Given the description of an element on the screen output the (x, y) to click on. 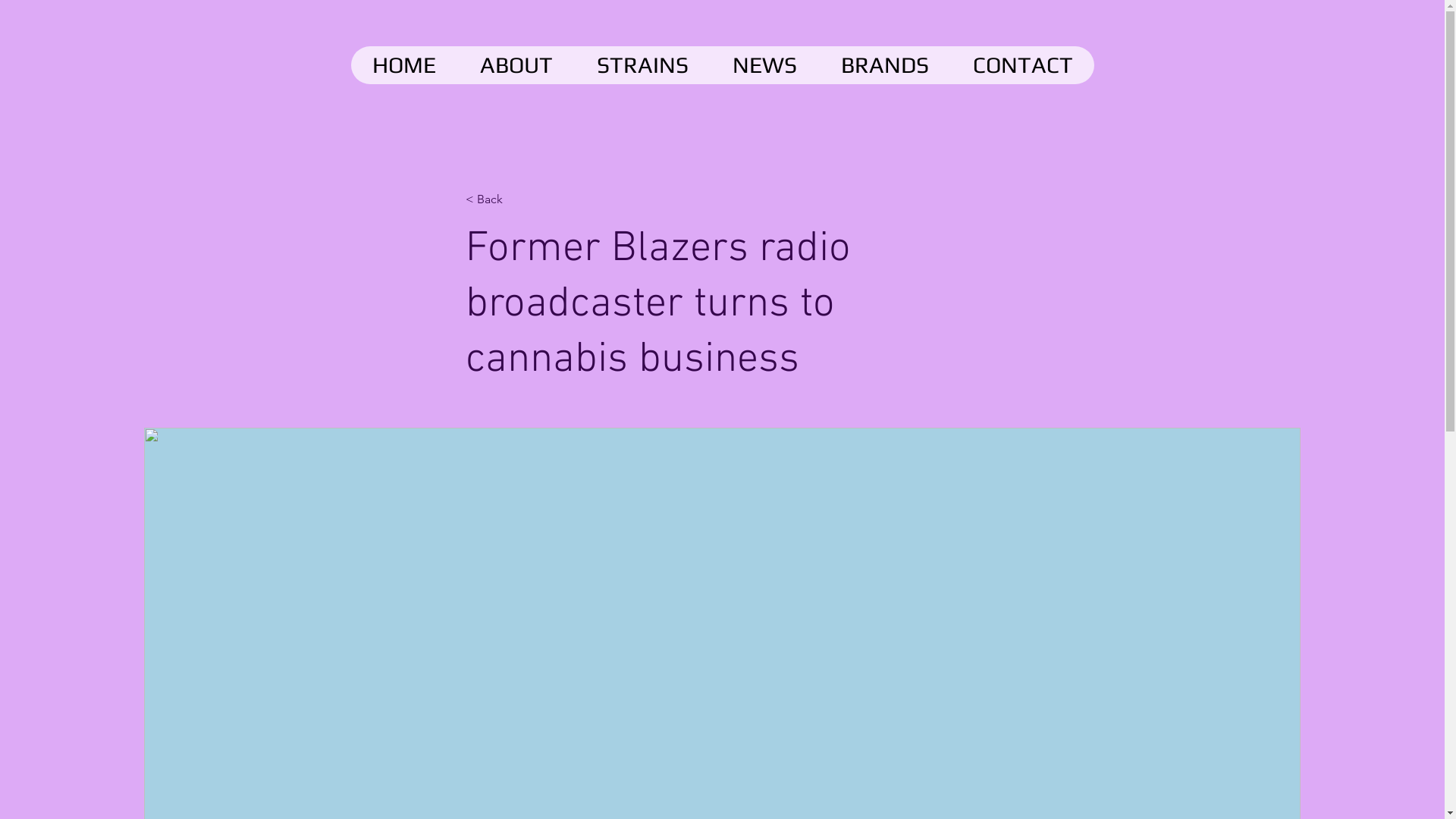
NEWS Element type: text (763, 65)
BRANDS Element type: text (884, 65)
< Back Element type: text (515, 199)
ABOUT Element type: text (516, 65)
STRAINS Element type: text (642, 65)
CONTACT Element type: text (1022, 65)
HOME Element type: text (403, 65)
